Given the description of an element on the screen output the (x, y) to click on. 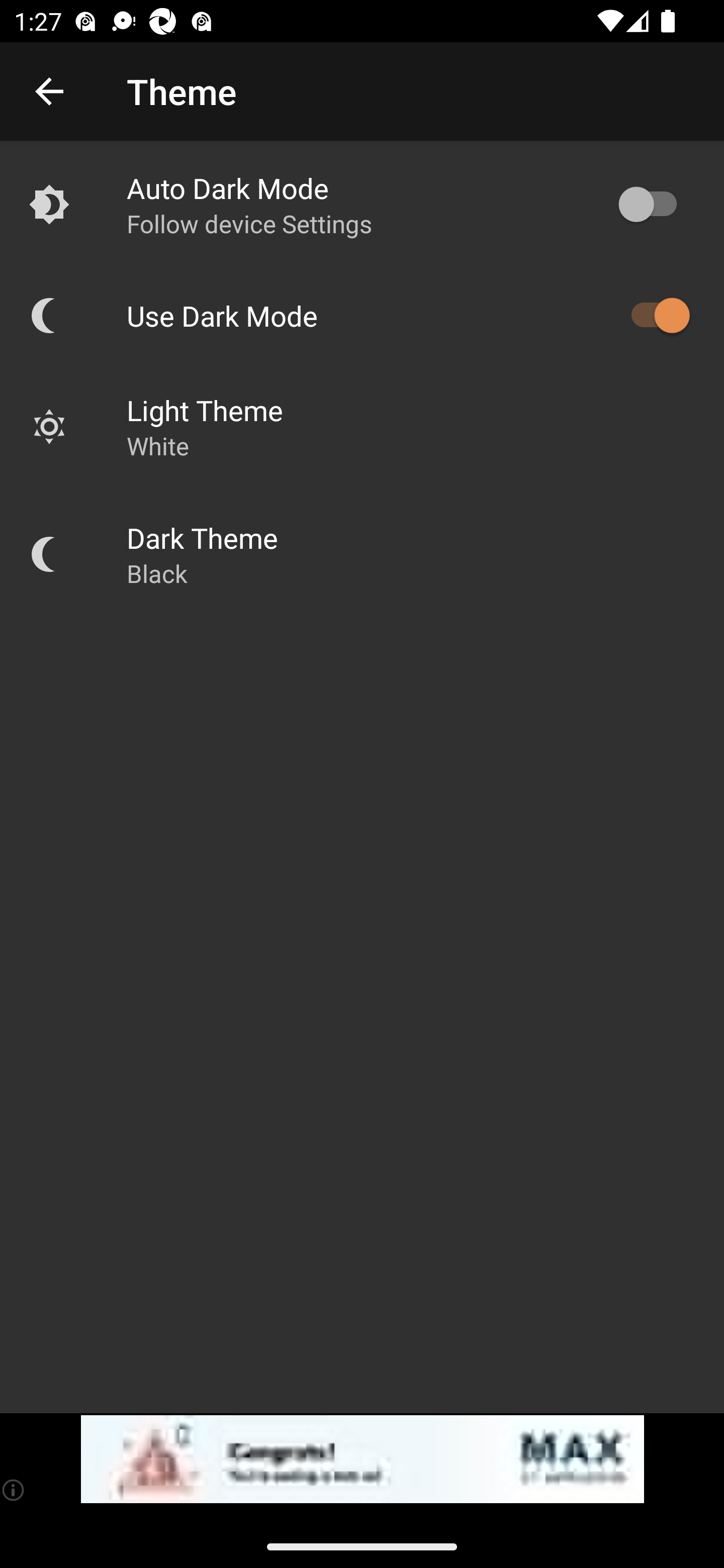
Navigate up (49, 91)
Auto Dark Mode Follow device Settings (362, 204)
Use Dark Mode (362, 315)
Light Theme White (362, 426)
Dark Theme Black (362, 553)
app-monetization (362, 1459)
(i) (14, 1489)
